Given the description of an element on the screen output the (x, y) to click on. 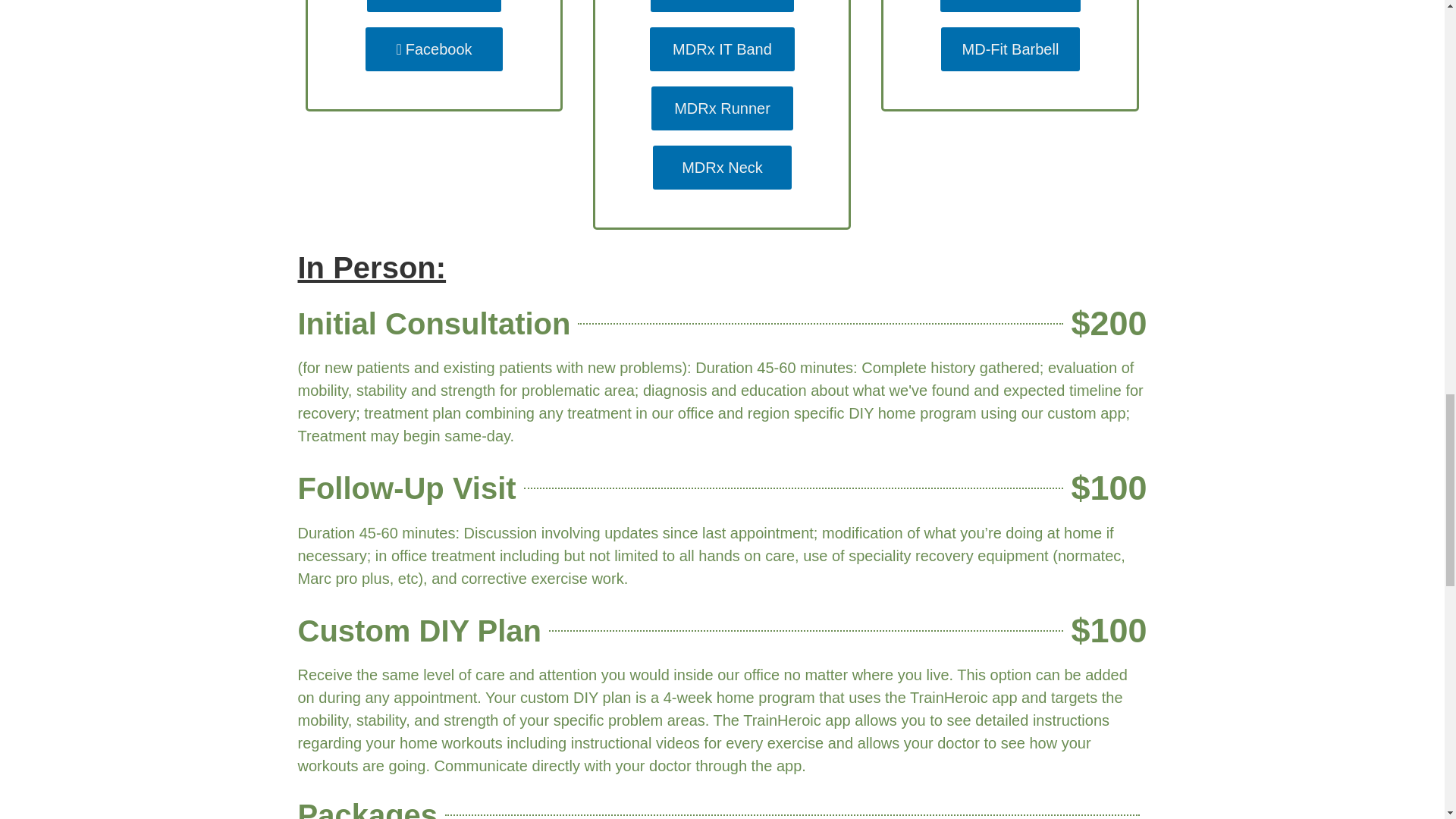
MDRx Hips (721, 6)
TikTok (433, 6)
MDRx Runner (721, 108)
Facebook (433, 49)
MDRx IT Band (721, 49)
